Given the description of an element on the screen output the (x, y) to click on. 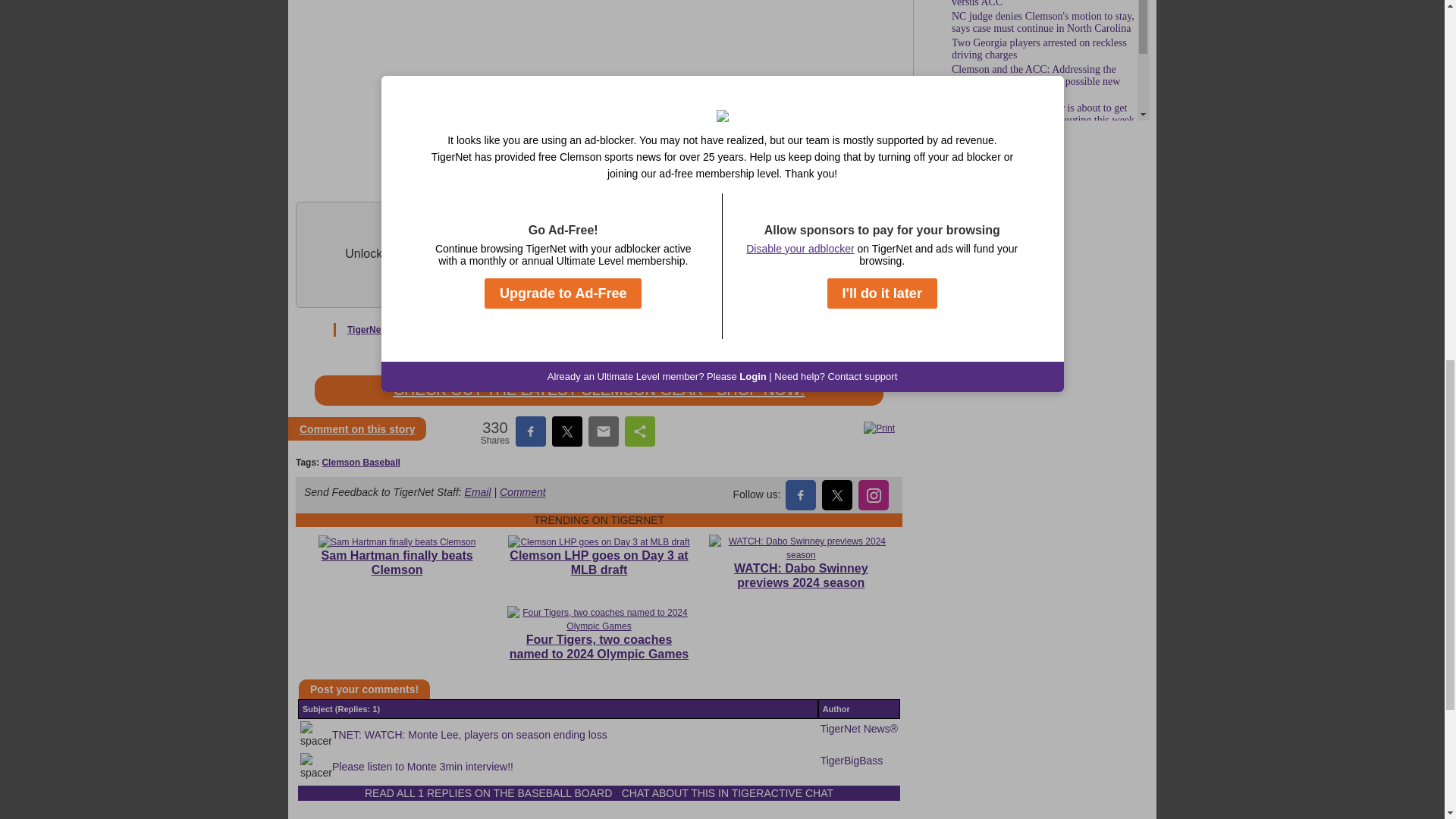
Click to reply to this topic (364, 689)
Click to reply to this topic (356, 428)
Print (879, 427)
